Given the description of an element on the screen output the (x, y) to click on. 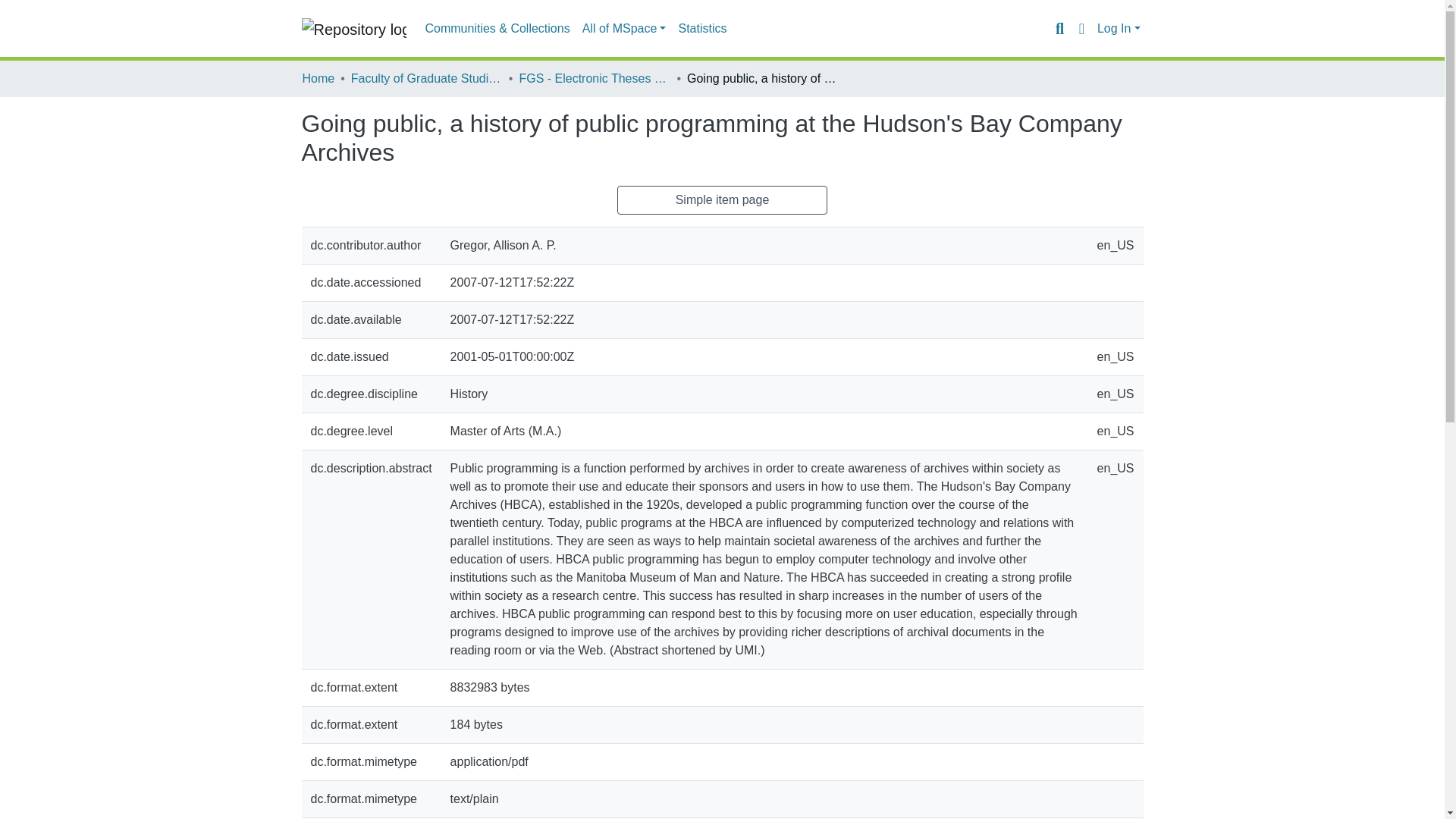
All of MSpace (624, 28)
FGS - Electronic Theses and Practica (593, 78)
Language switch (1081, 28)
Home (317, 78)
Statistics (701, 28)
Search (1058, 28)
Statistics (701, 28)
Simple item page (722, 199)
Log In (1118, 28)
